Given the description of an element on the screen output the (x, y) to click on. 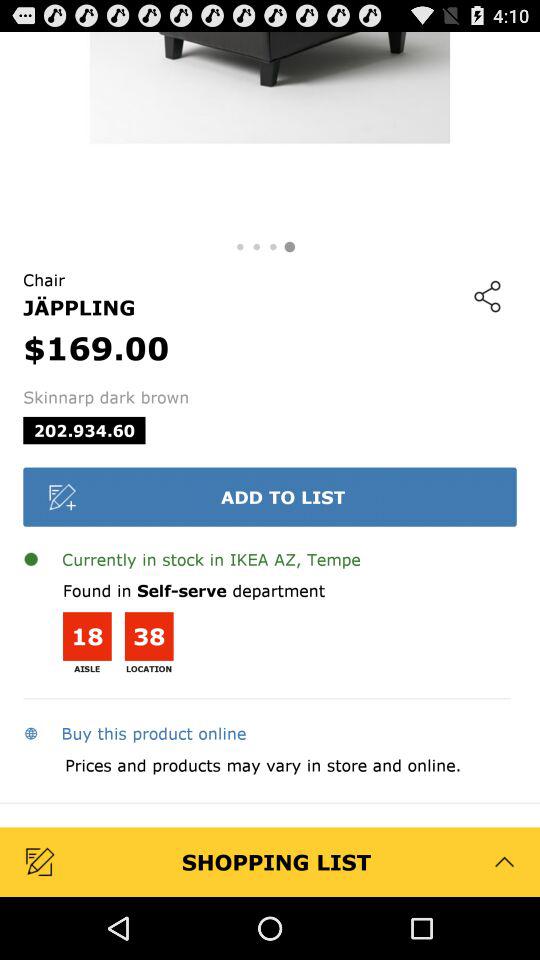
select or view picture (270, 132)
